Given the description of an element on the screen output the (x, y) to click on. 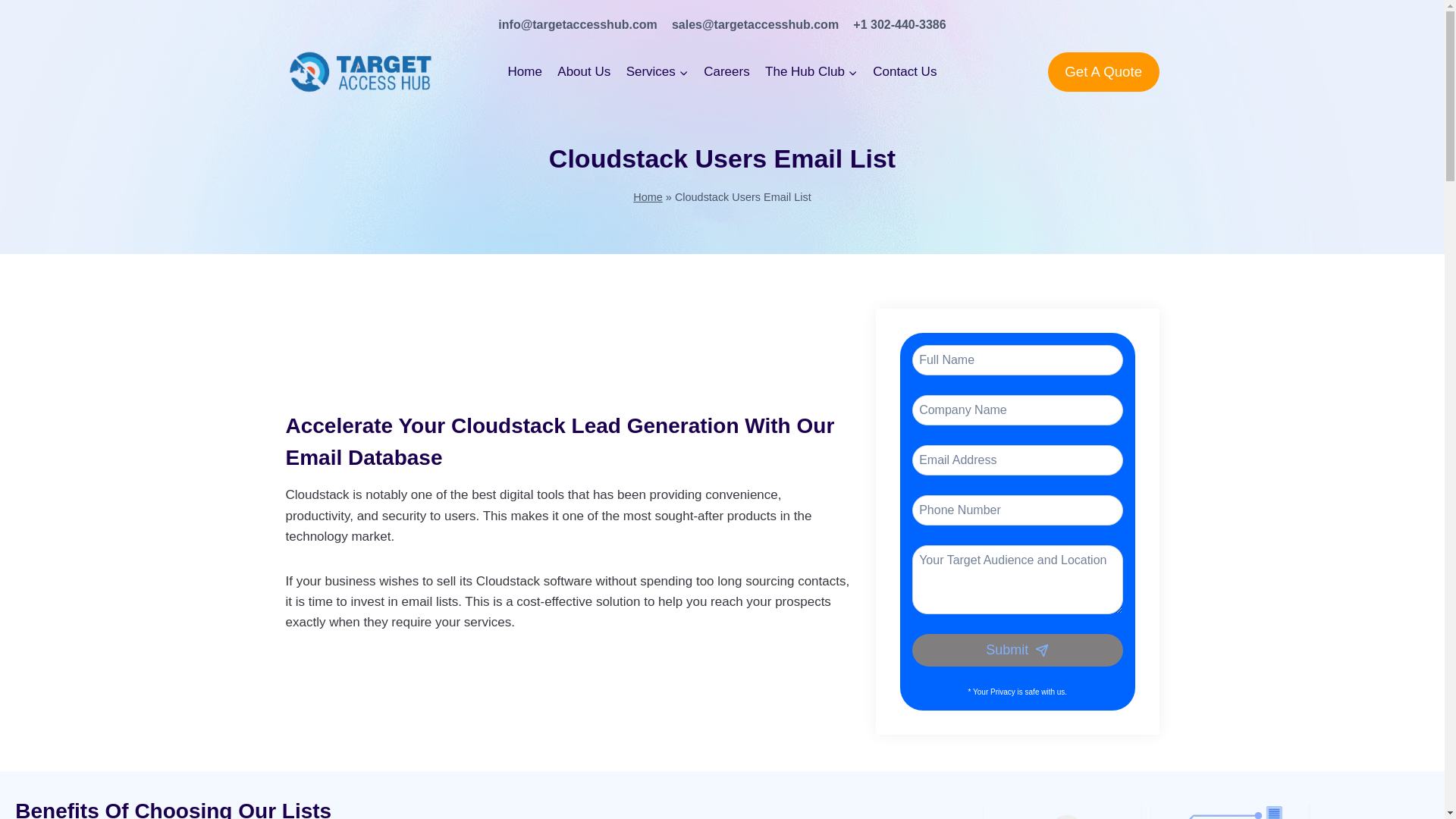
The Hub Club (810, 71)
Get A Quote (1103, 71)
About Us (583, 71)
Careers (726, 71)
Home (647, 196)
Contact Us (903, 71)
Services (656, 71)
